Given the description of an element on the screen output the (x, y) to click on. 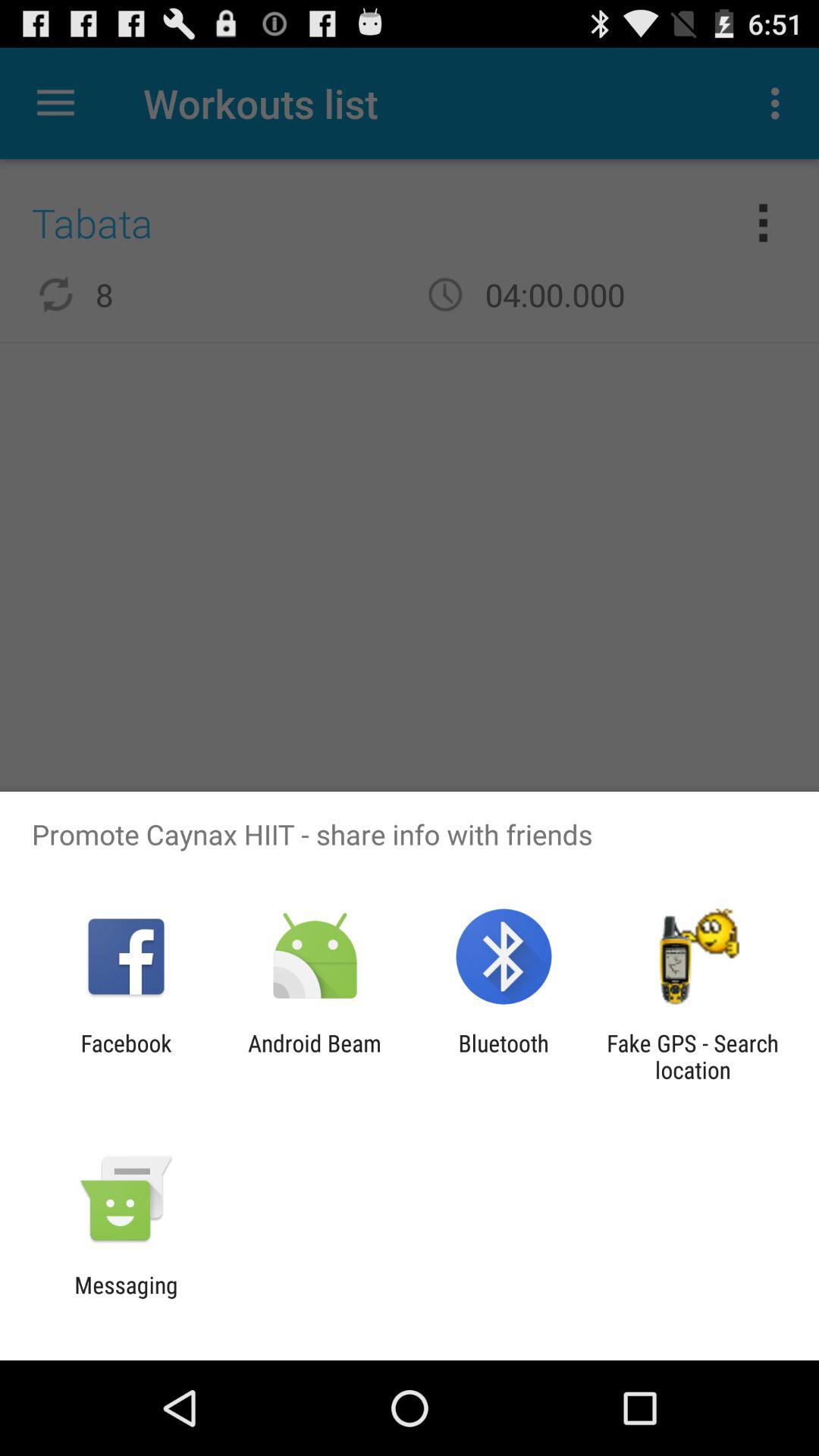
choose app next to android beam icon (125, 1056)
